Given the description of an element on the screen output the (x, y) to click on. 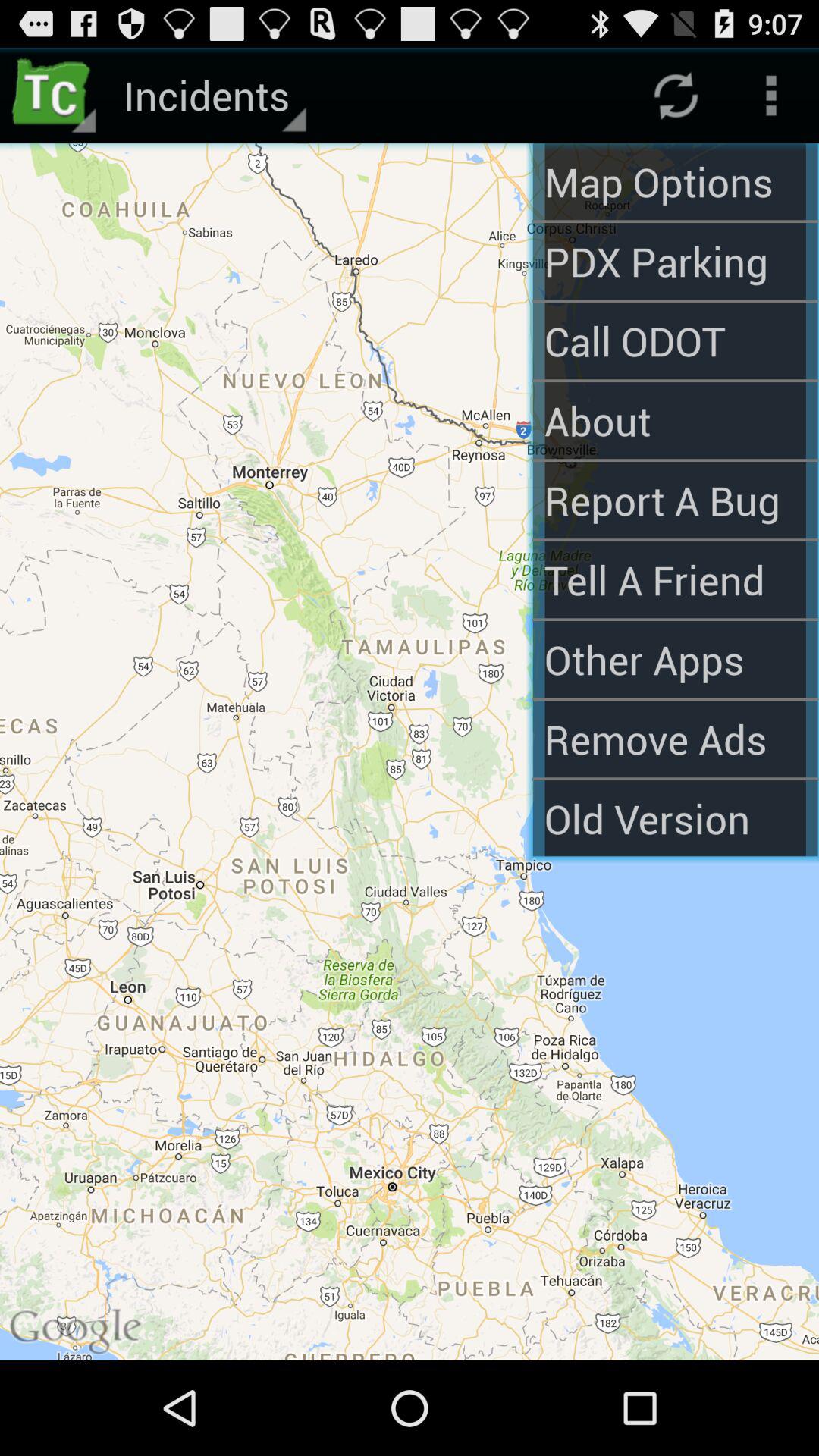
flip to about app (675, 420)
